Given the description of an element on the screen output the (x, y) to click on. 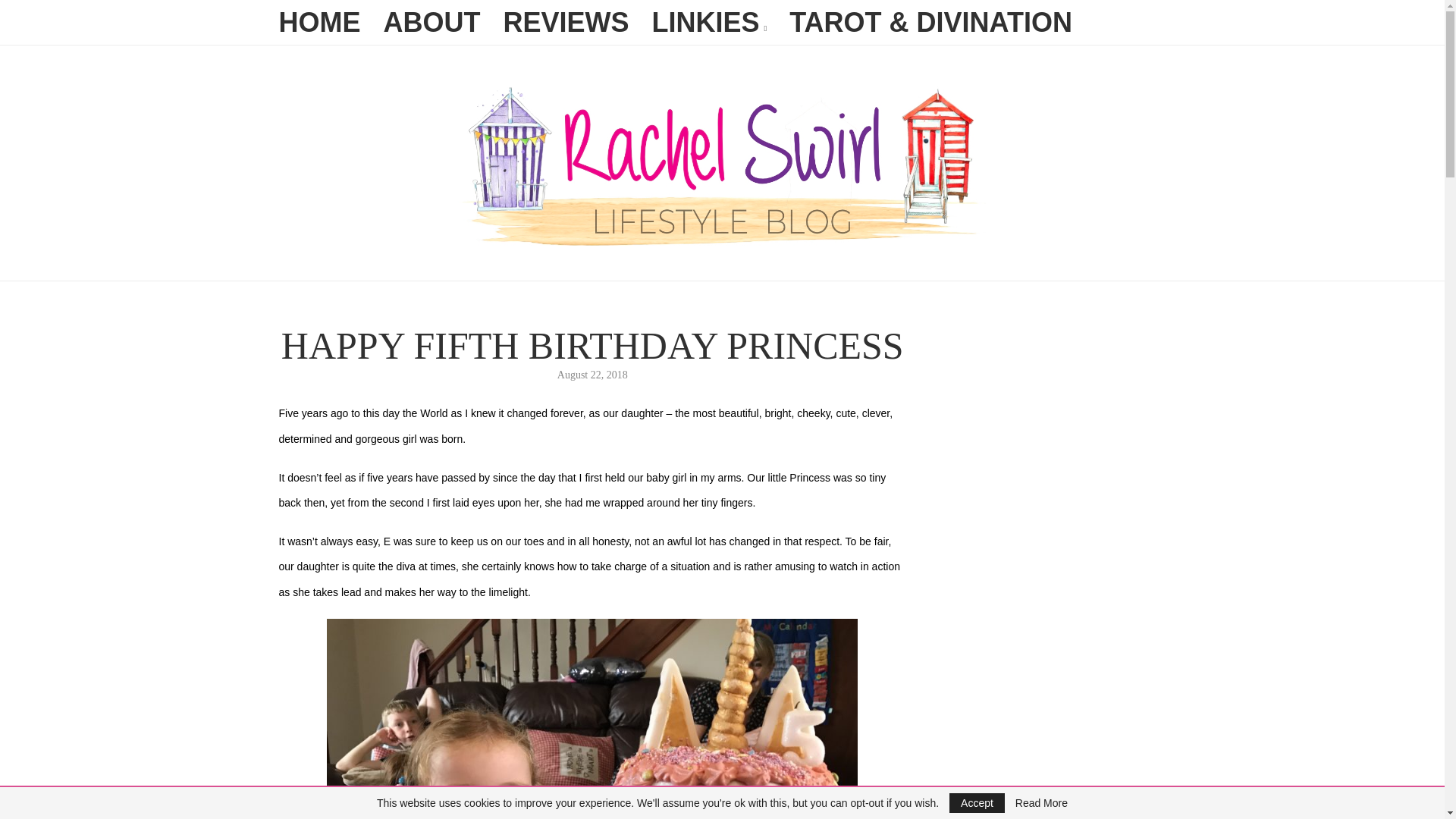
birthday  (591, 719)
ABOUT (432, 22)
LINKIES (709, 25)
HOME (320, 22)
REVIEWS (565, 22)
